Given the description of an element on the screen output the (x, y) to click on. 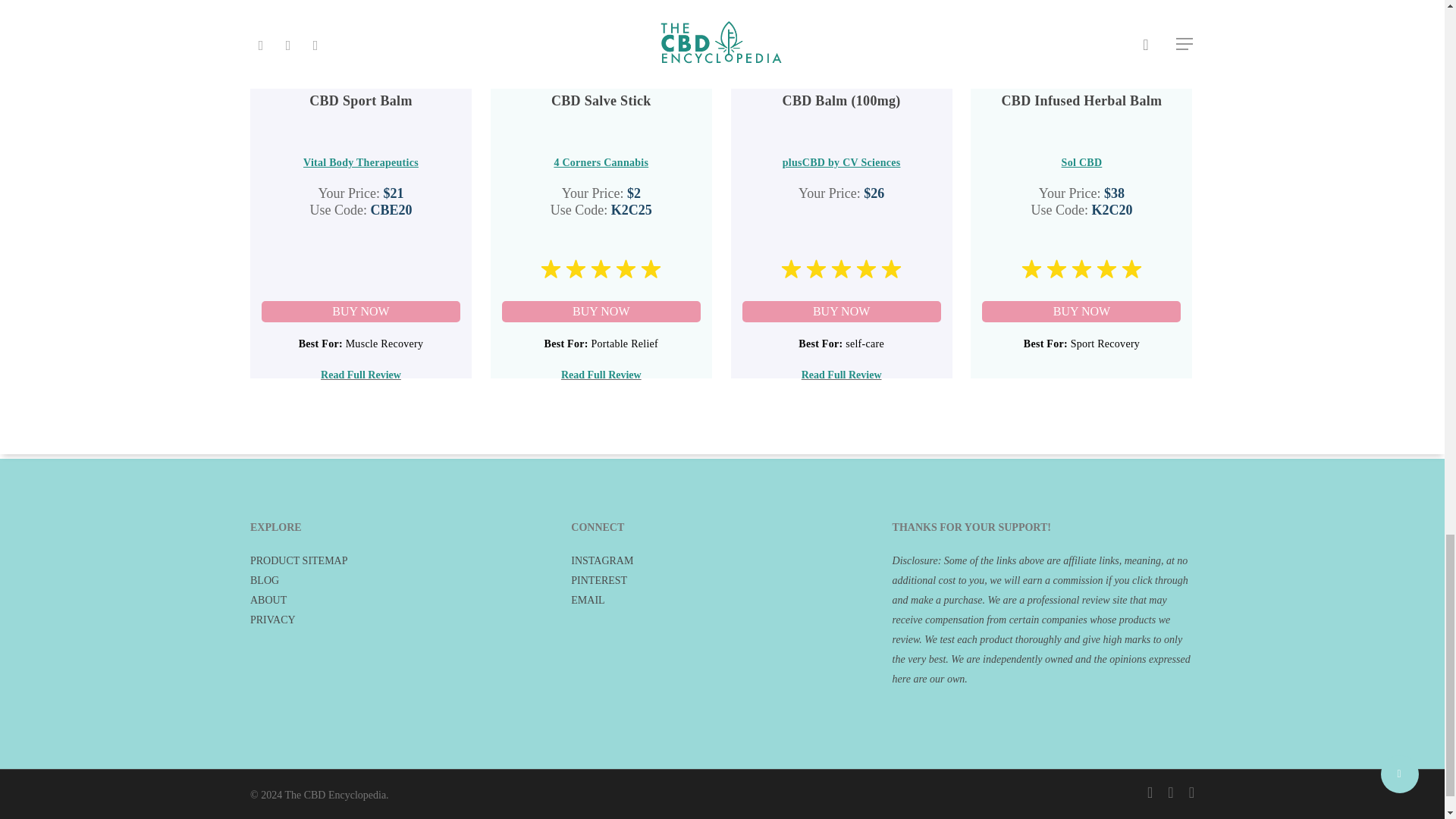
BUY NOW (841, 311)
4 Corners Cannabis CBD Salve Stick (601, 311)
Sol CBD Balm (1080, 311)
BUY NOW (1080, 311)
BUY NOW (361, 311)
Sol CBD (1081, 162)
BUY NOW (601, 311)
Extra Strength Balm (841, 311)
Vital Body Therapeutics (360, 162)
4 Corners Cannabis (600, 162)
Vital Body Therapeutics CBD Sport Balm (361, 311)
plusCBD by CV Sciences (842, 162)
Read Full Review (360, 374)
Read Full Review (601, 374)
Read Full Review (842, 374)
